Given the description of an element on the screen output the (x, y) to click on. 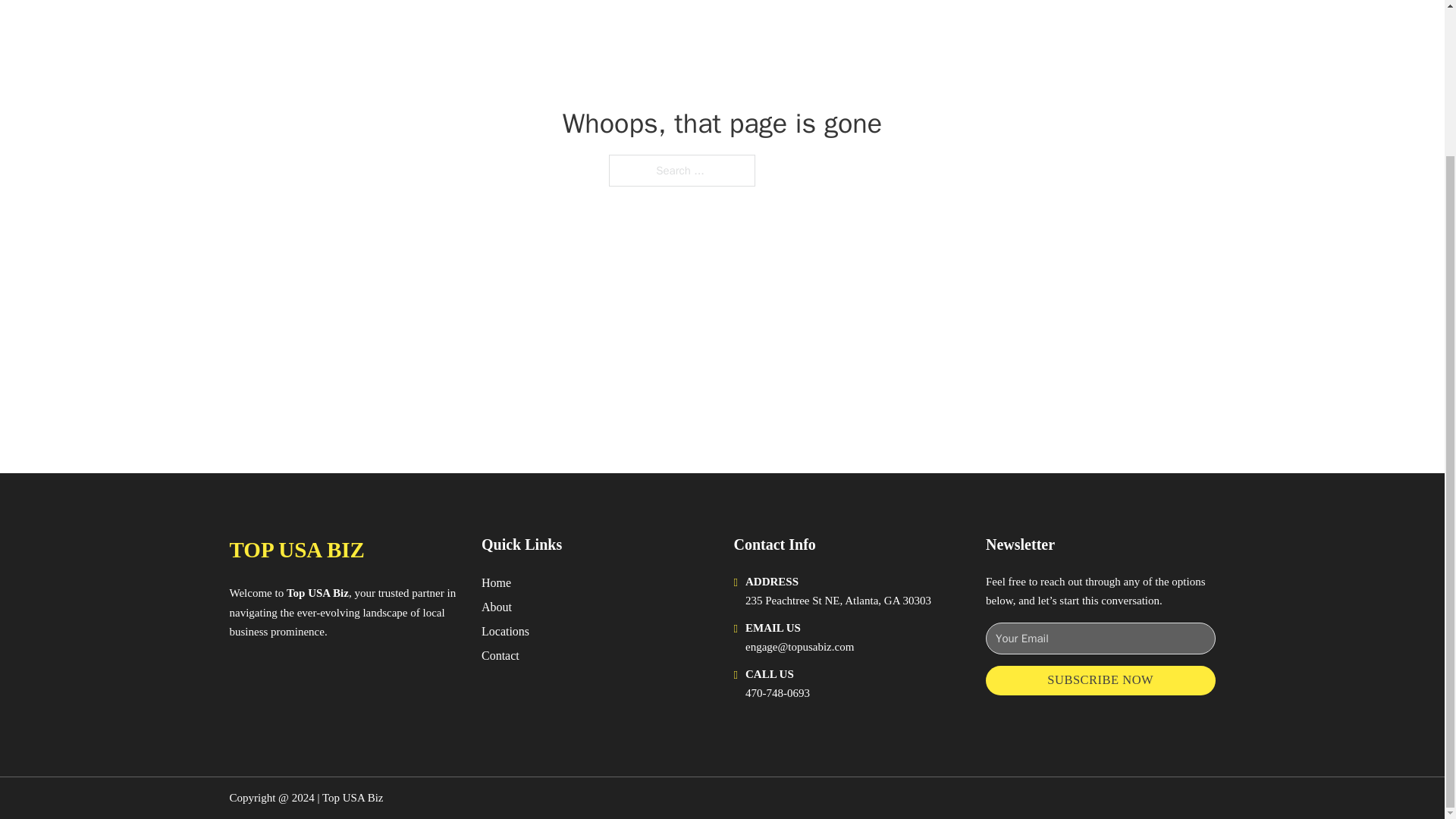
TOP USA BIZ (296, 549)
470-748-0693 (777, 693)
Locations (505, 630)
Home (496, 582)
Contact (500, 655)
About (496, 607)
SUBSCRIBE NOW (1100, 680)
